Given the description of an element on the screen output the (x, y) to click on. 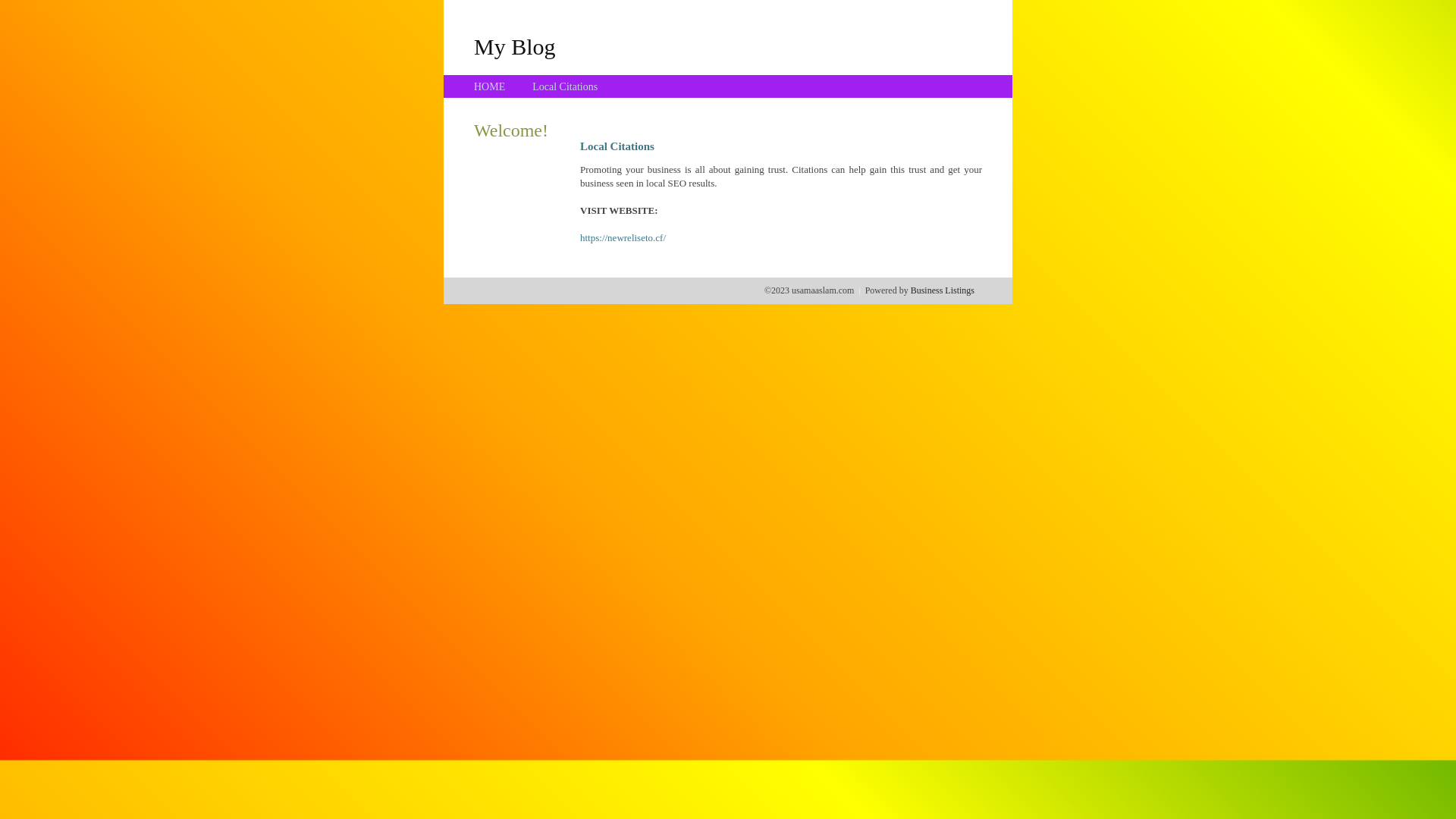
Business Listings Element type: text (942, 290)
https://newreliseto.cf/ Element type: text (622, 237)
Local Citations Element type: text (564, 86)
My Blog Element type: text (514, 46)
HOME Element type: text (489, 86)
